Given the description of an element on the screen output the (x, y) to click on. 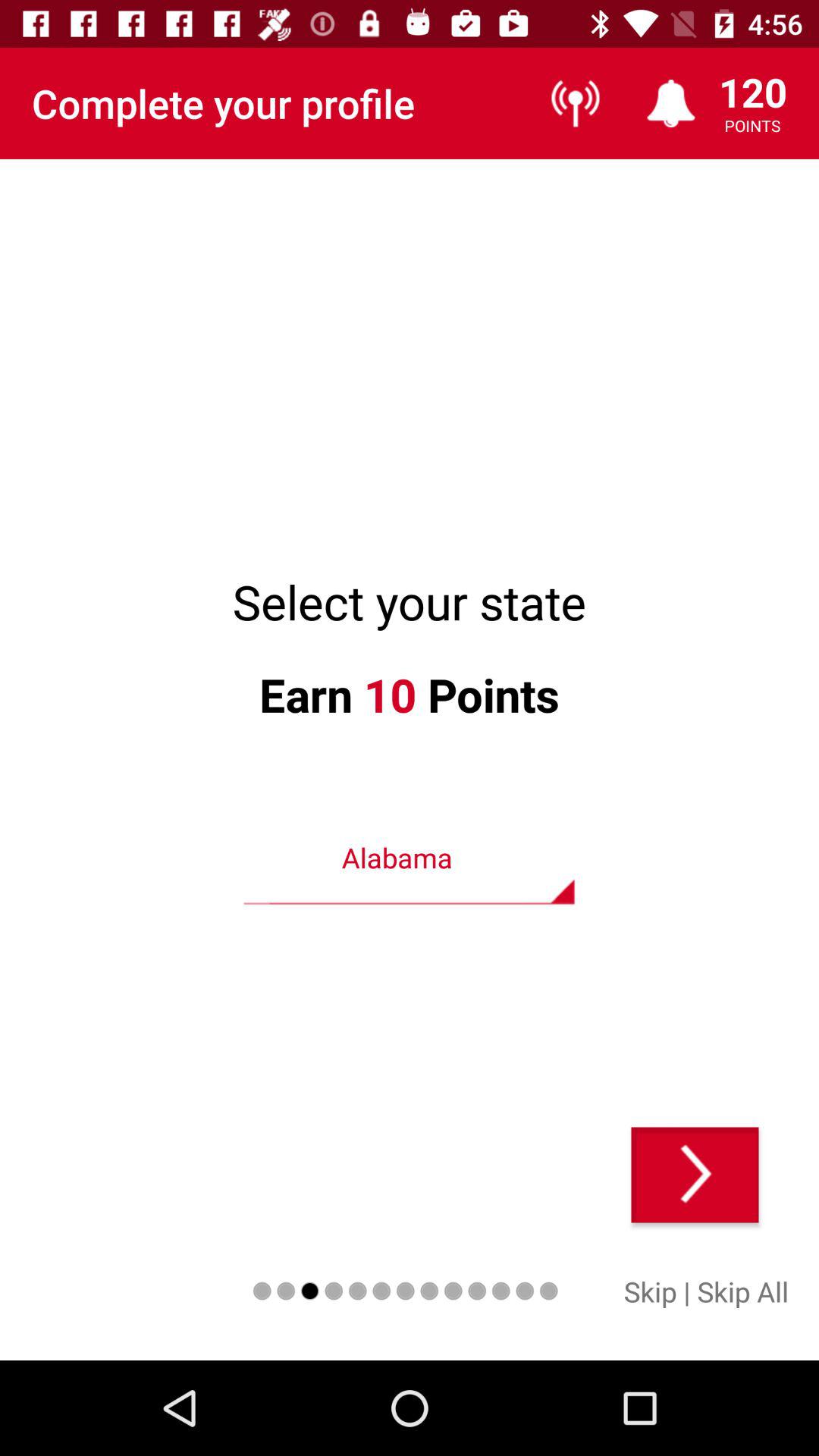
open item below points (694, 1174)
